Given the description of an element on the screen output the (x, y) to click on. 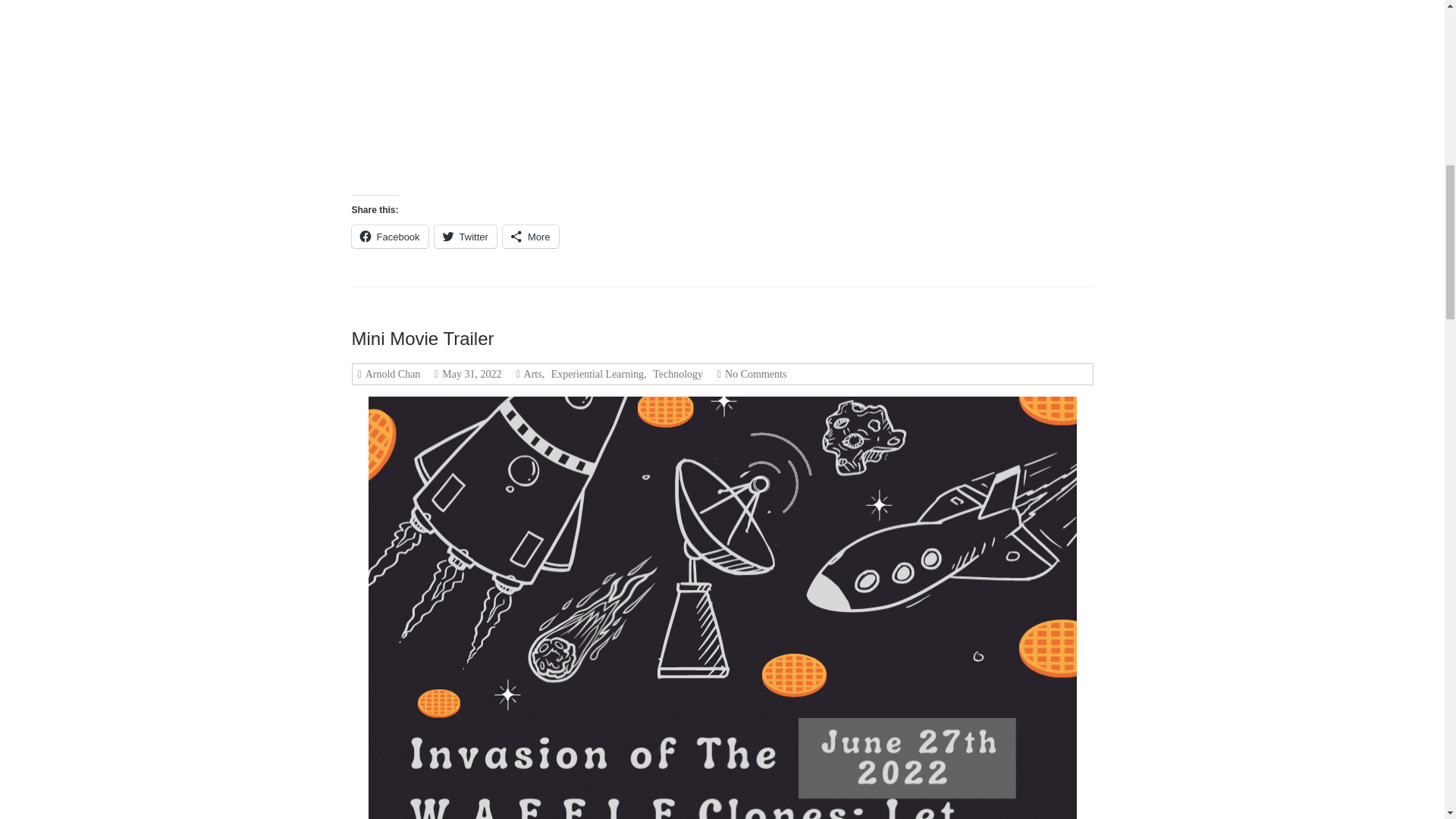
Click to share on Facebook (390, 236)
Click to share on Twitter (464, 236)
YouTube video player (643, 88)
